Given the description of an element on the screen output the (x, y) to click on. 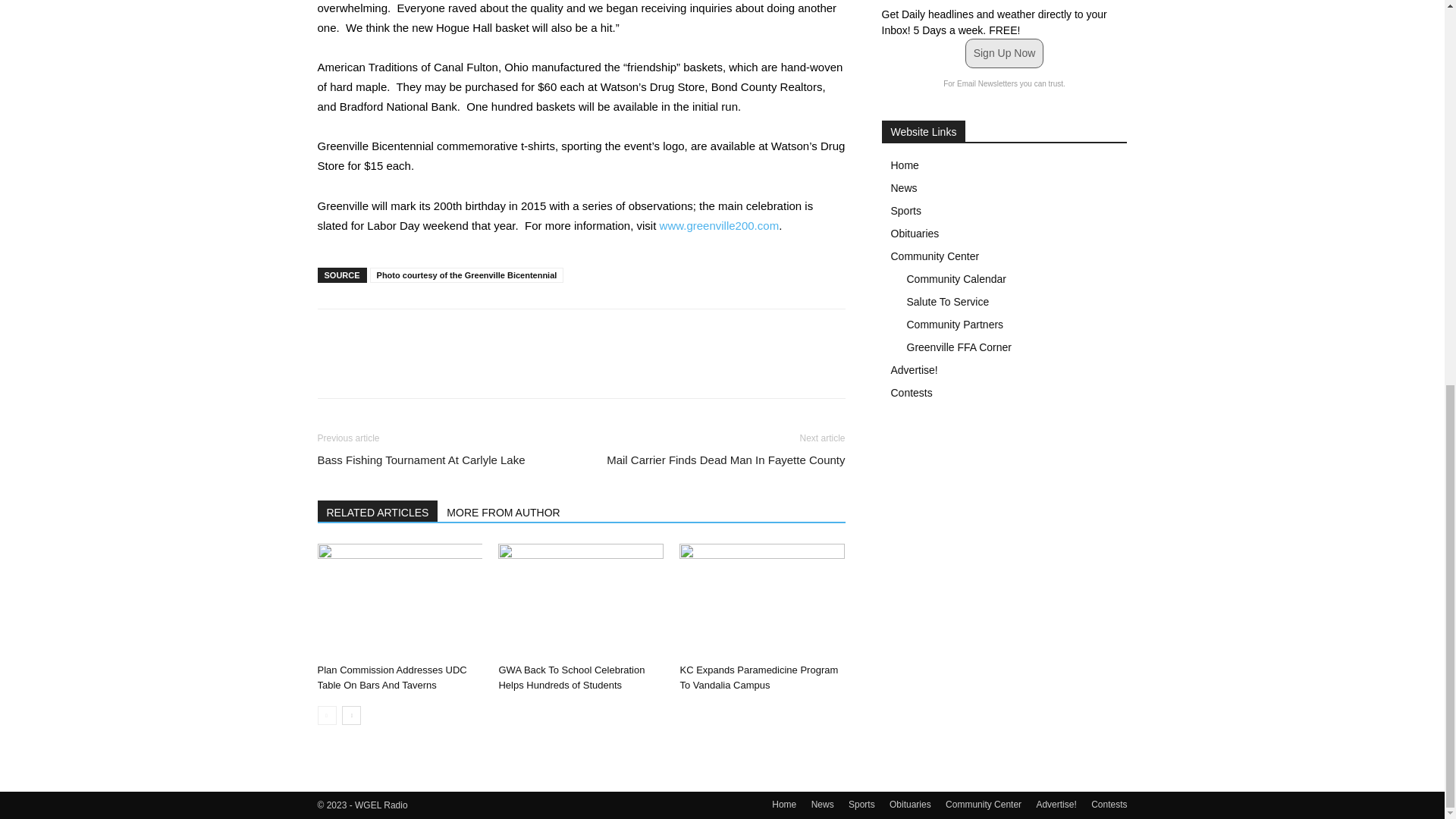
Plan Commission Addresses UDC Table On Bars And Taverns (391, 677)
Plan Commission Addresses UDC Table On Bars And Taverns (399, 600)
bottomFacebookLike (430, 333)
Photo courtesy of the Greenville Bicentennial (466, 274)
www.greenville200.com (718, 225)
